Given the description of an element on the screen output the (x, y) to click on. 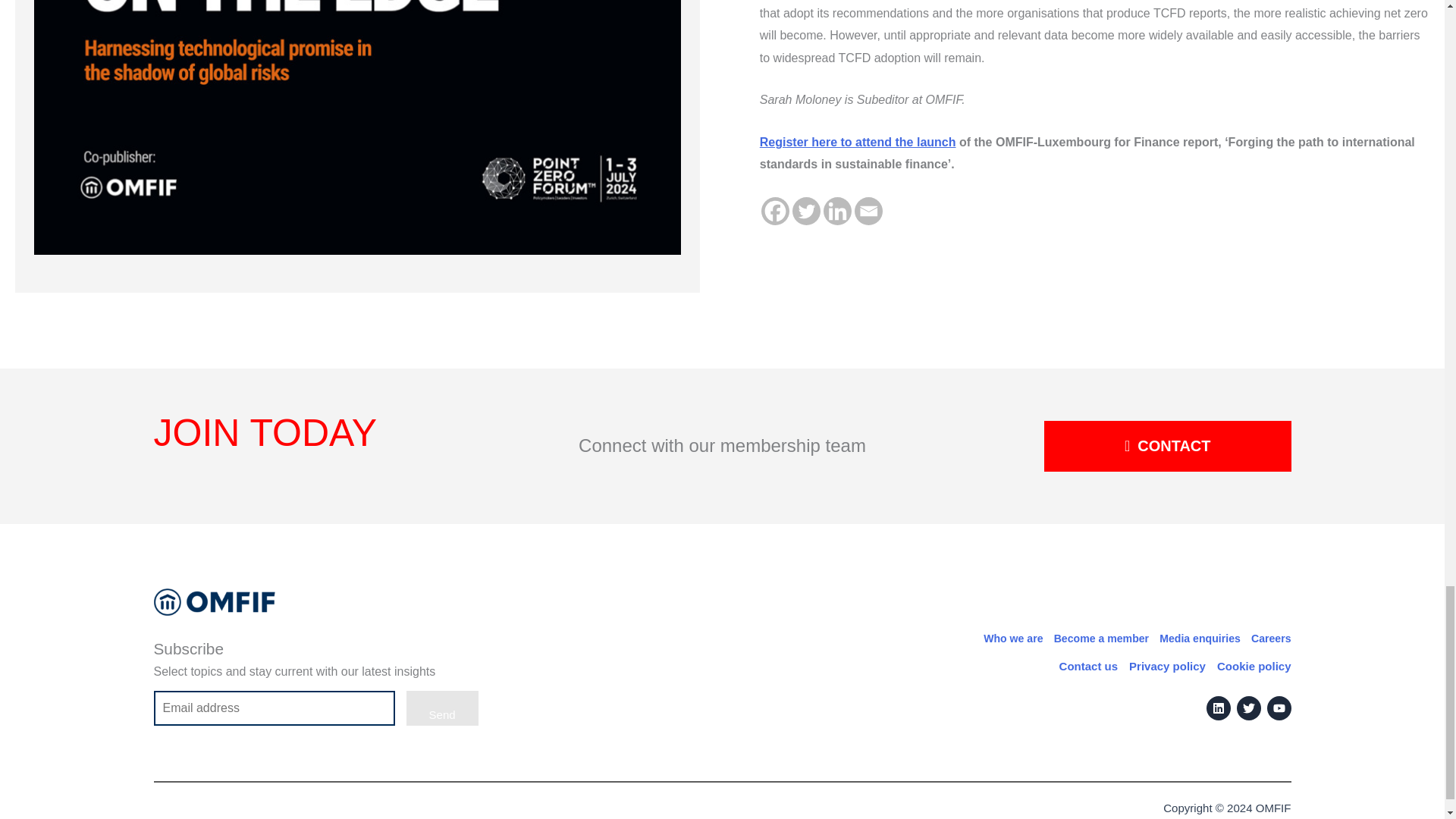
Linkedin (837, 211)
Facebook (775, 211)
Email (868, 211)
Twitter (806, 211)
Send (442, 708)
